Given the description of an element on the screen output the (x, y) to click on. 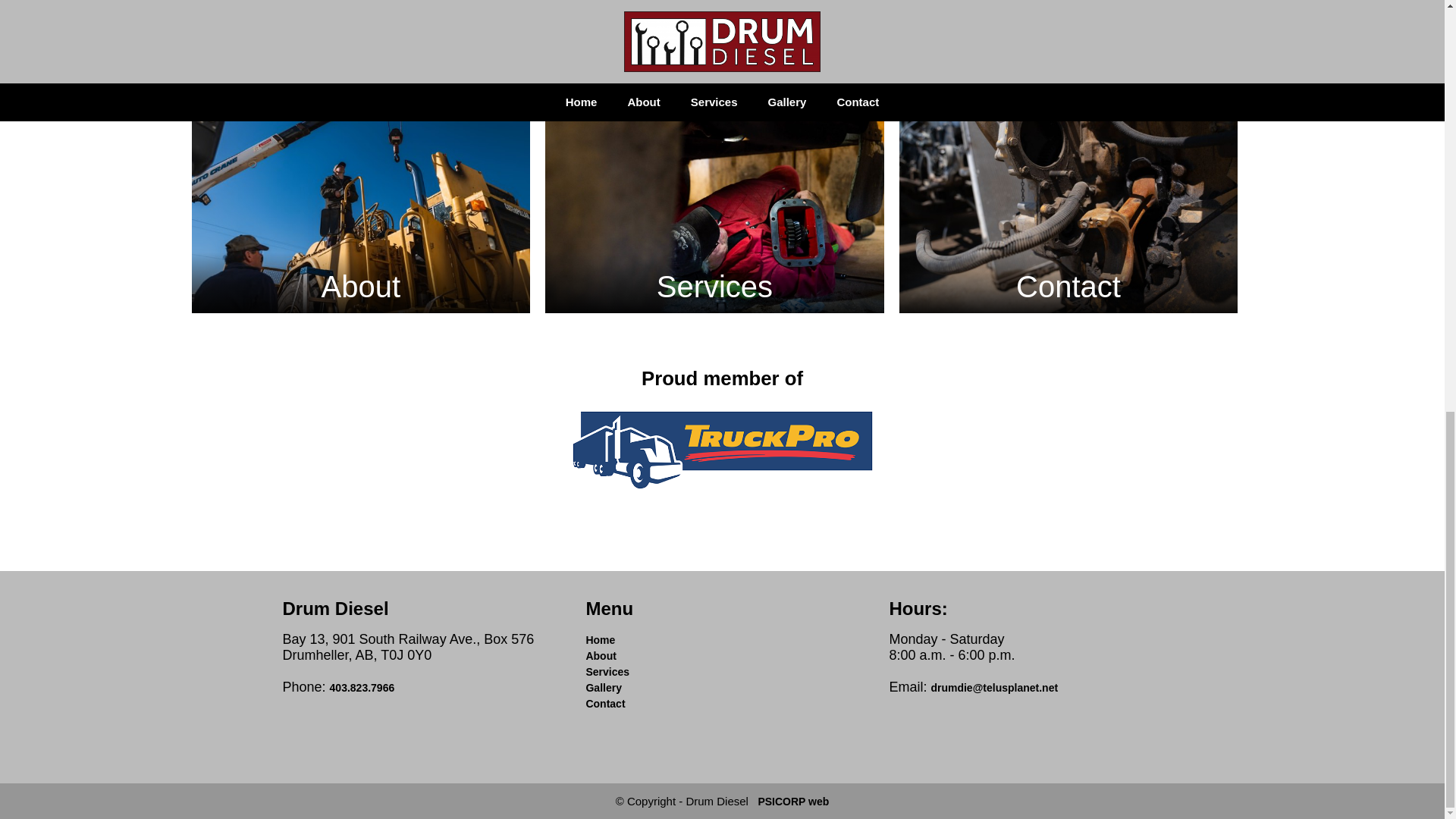
About (600, 655)
403.823.7966 (362, 687)
Home (599, 639)
Gallery (603, 687)
Contact (1069, 198)
Contact (604, 703)
Services (606, 671)
About (359, 198)
PSICORP web (792, 801)
Services (713, 198)
